Given the description of an element on the screen output the (x, y) to click on. 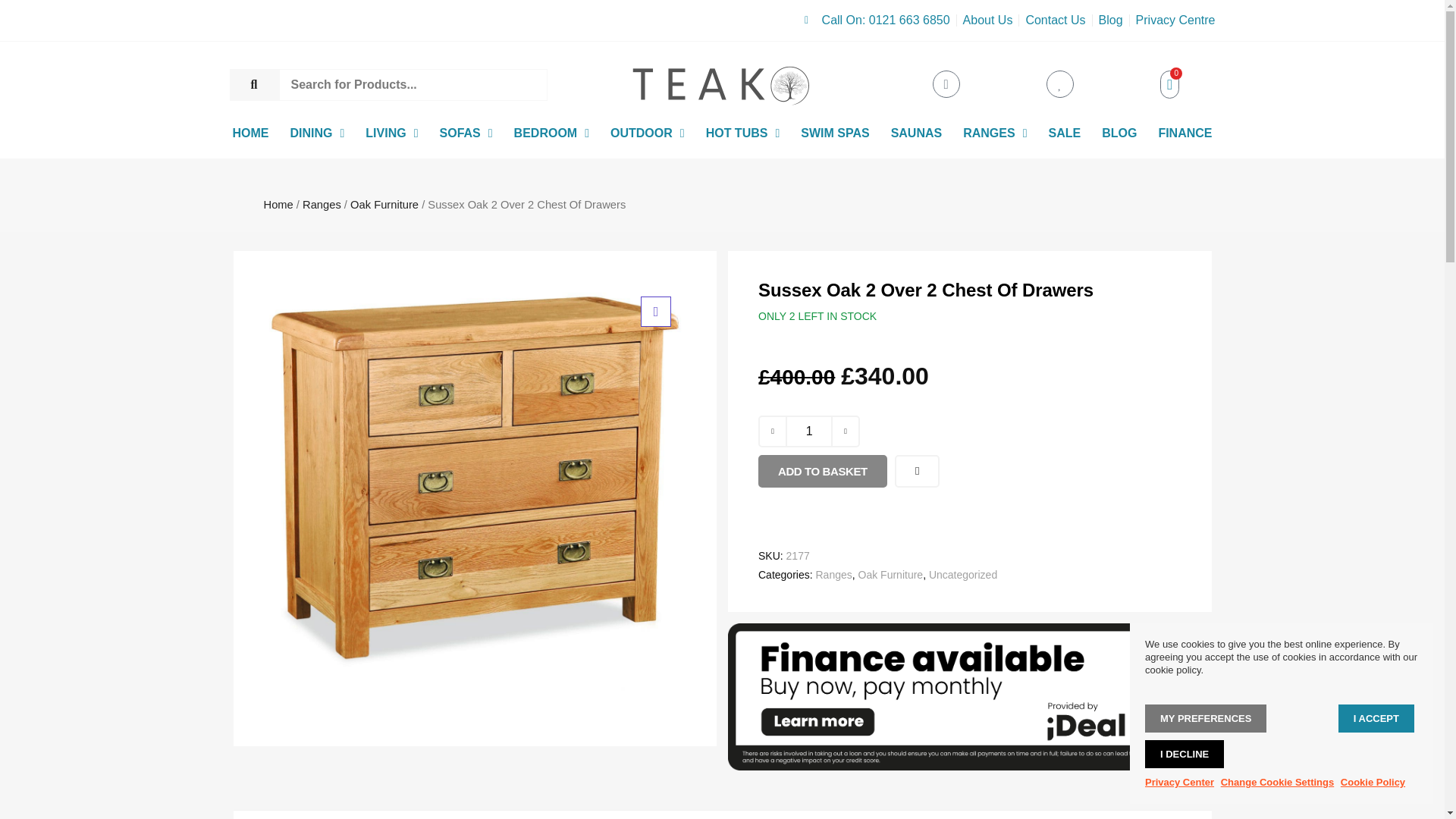
Add to Wishlist (917, 471)
1 (809, 431)
DINING (317, 133)
Contact Us (1054, 20)
LIVING (391, 133)
Call On: 0121 663 6850 (877, 20)
SOFAS (466, 133)
HOME (250, 133)
Blog (1110, 20)
PayPal Message 1 (969, 503)
About Us (987, 20)
Product Thumbnail (655, 311)
Ideal4Finance (969, 766)
Privacy Centre (1175, 20)
